Given the description of an element on the screen output the (x, y) to click on. 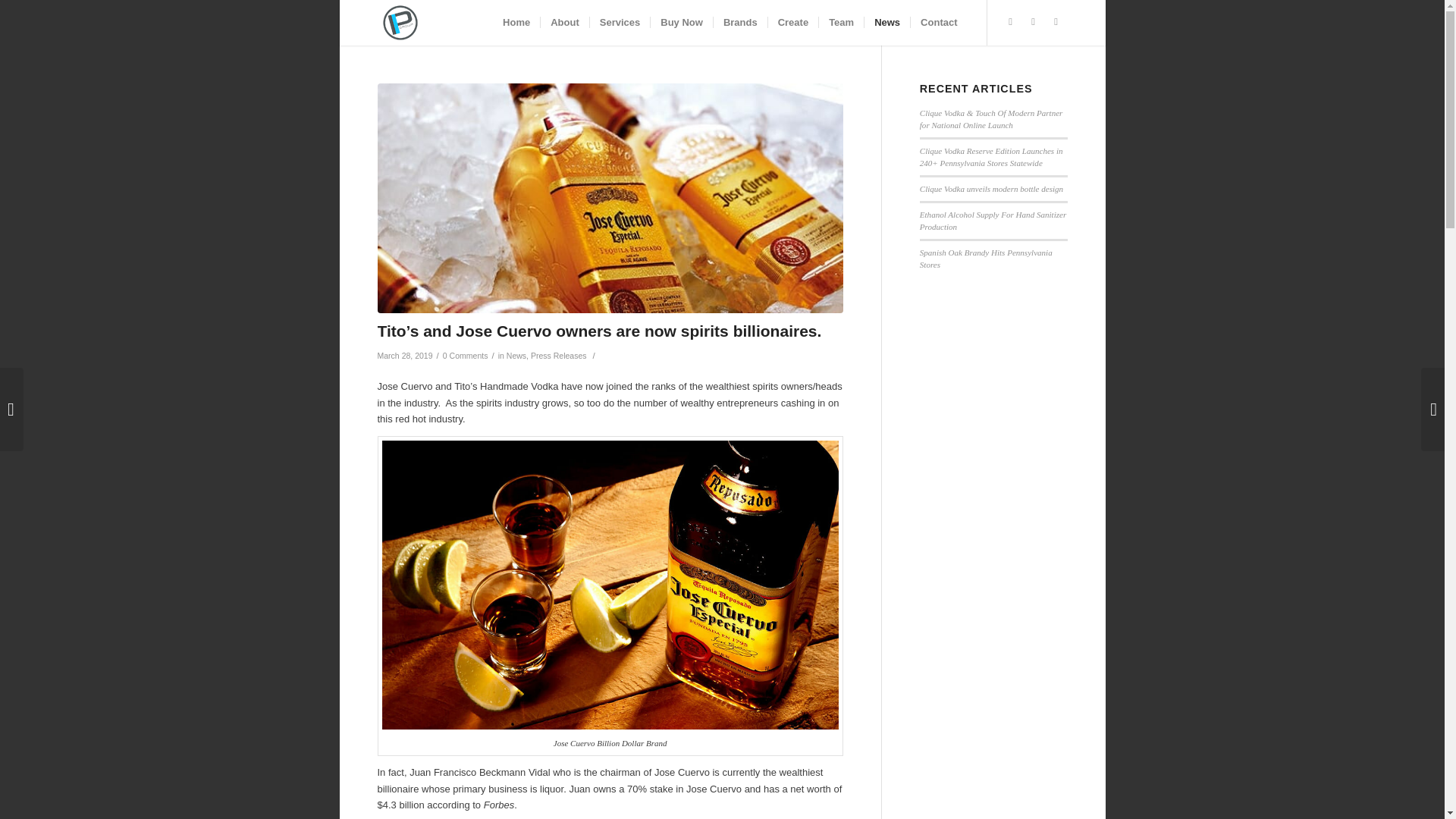
About (564, 22)
Services (619, 22)
Buy Now (681, 22)
Home (516, 22)
